Given the description of an element on the screen output the (x, y) to click on. 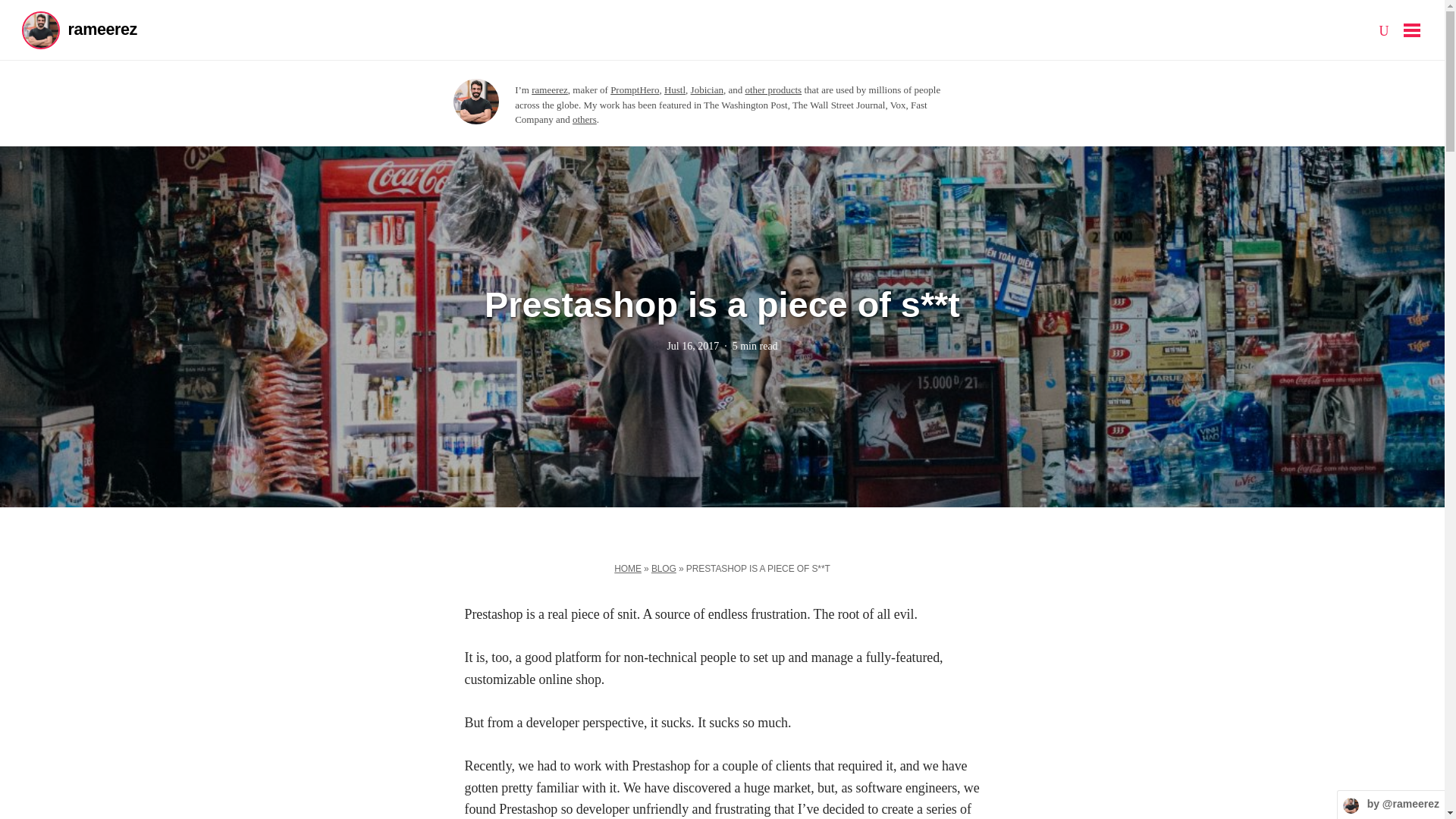
Hustl (674, 89)
Jobician (706, 89)
rameerez (549, 89)
HOME (628, 569)
others (584, 119)
PromptHero (634, 89)
BLOG (663, 569)
Search (24, 10)
rameerez (102, 28)
other products (773, 89)
